Given the description of an element on the screen output the (x, y) to click on. 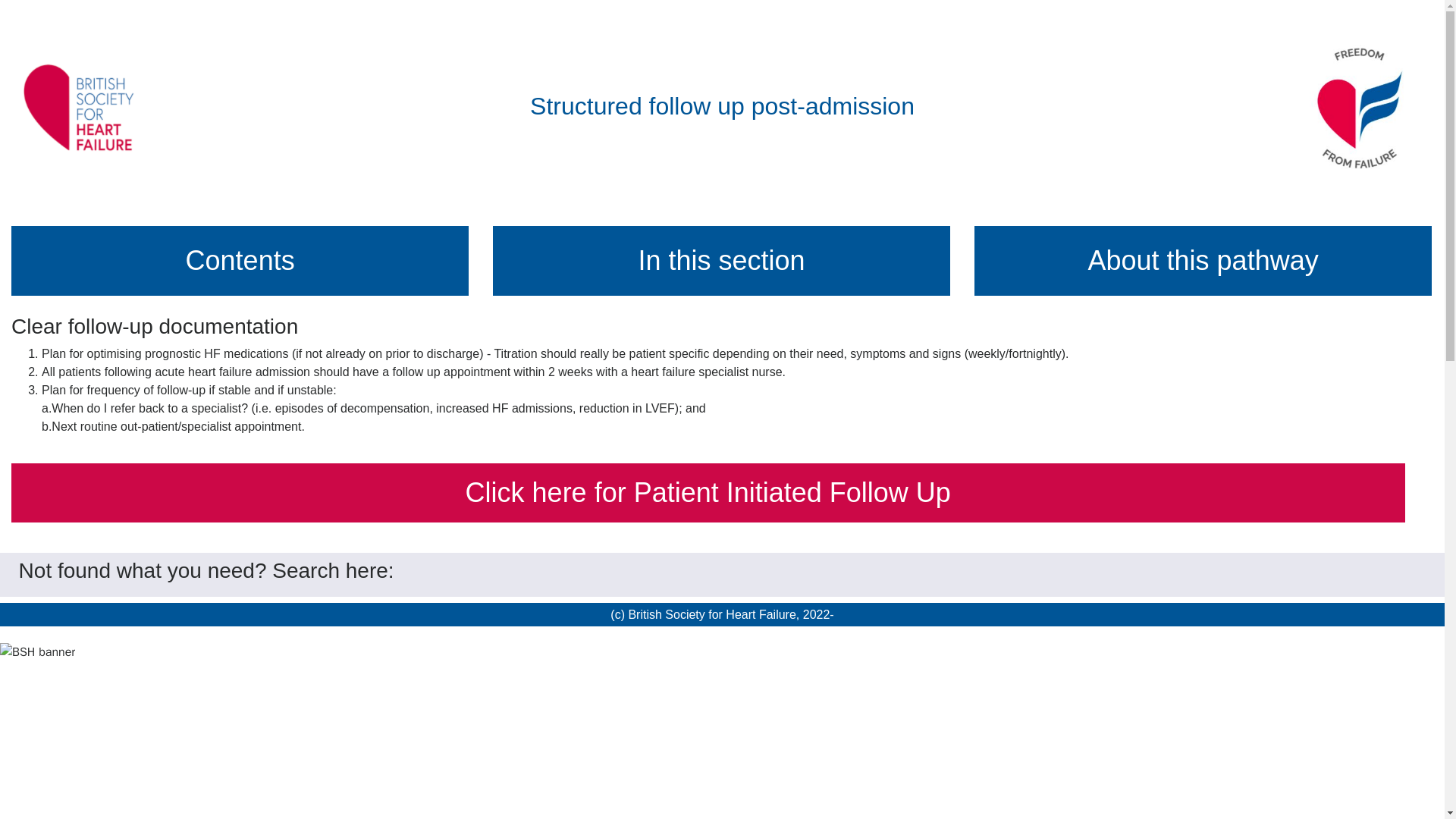
Freedom logo (1359, 109)
Click to find out more (1202, 260)
Back to Home Page (84, 108)
Click to find out more (239, 260)
Back to Home Page (1359, 108)
Click to find out more (721, 260)
Click here for Patient Initiated Follow Up (708, 492)
BHF logo (84, 109)
